Given the description of an element on the screen output the (x, y) to click on. 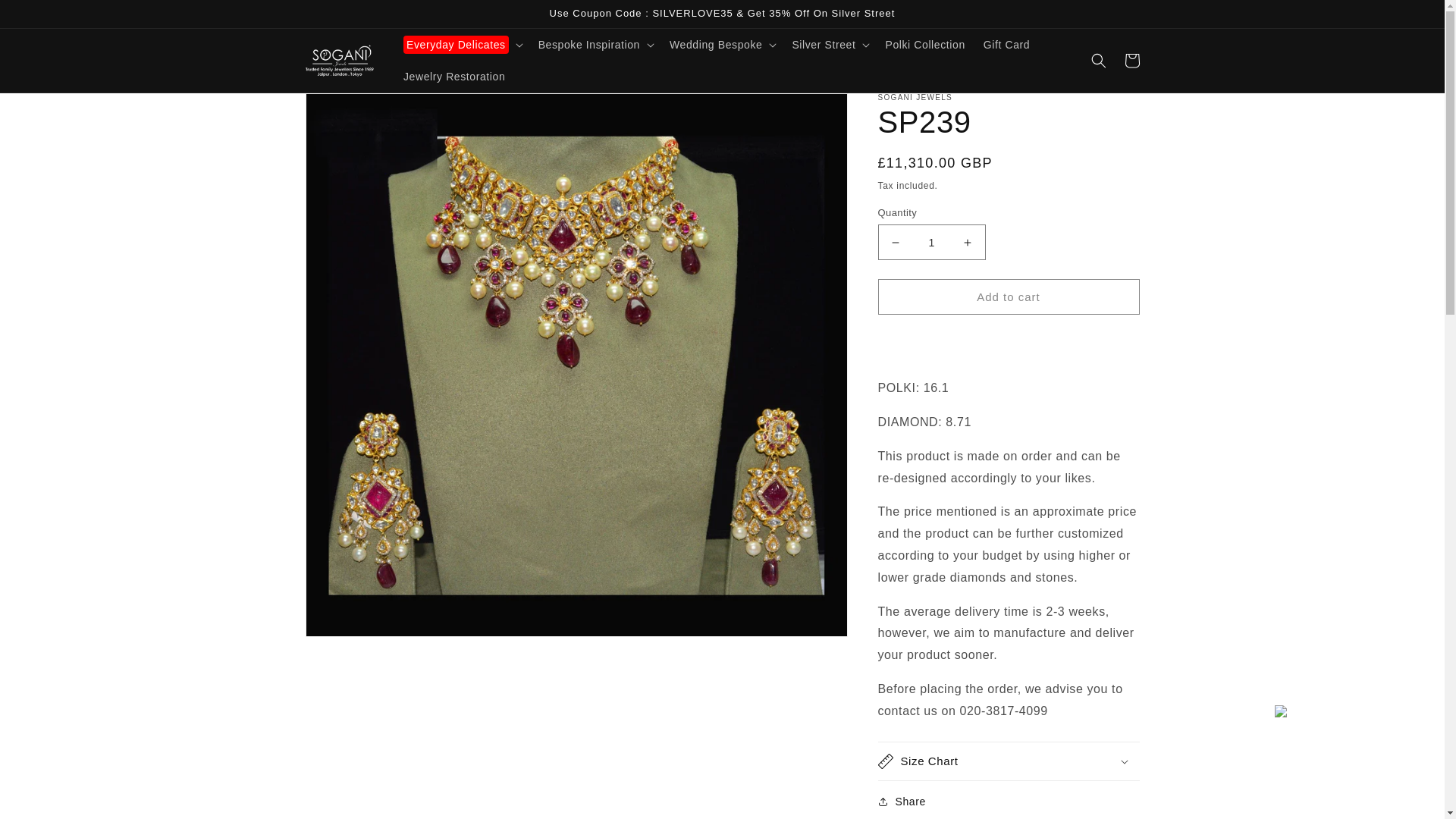
Skip to content (45, 17)
1 (931, 242)
